Given the description of an element on the screen output the (x, y) to click on. 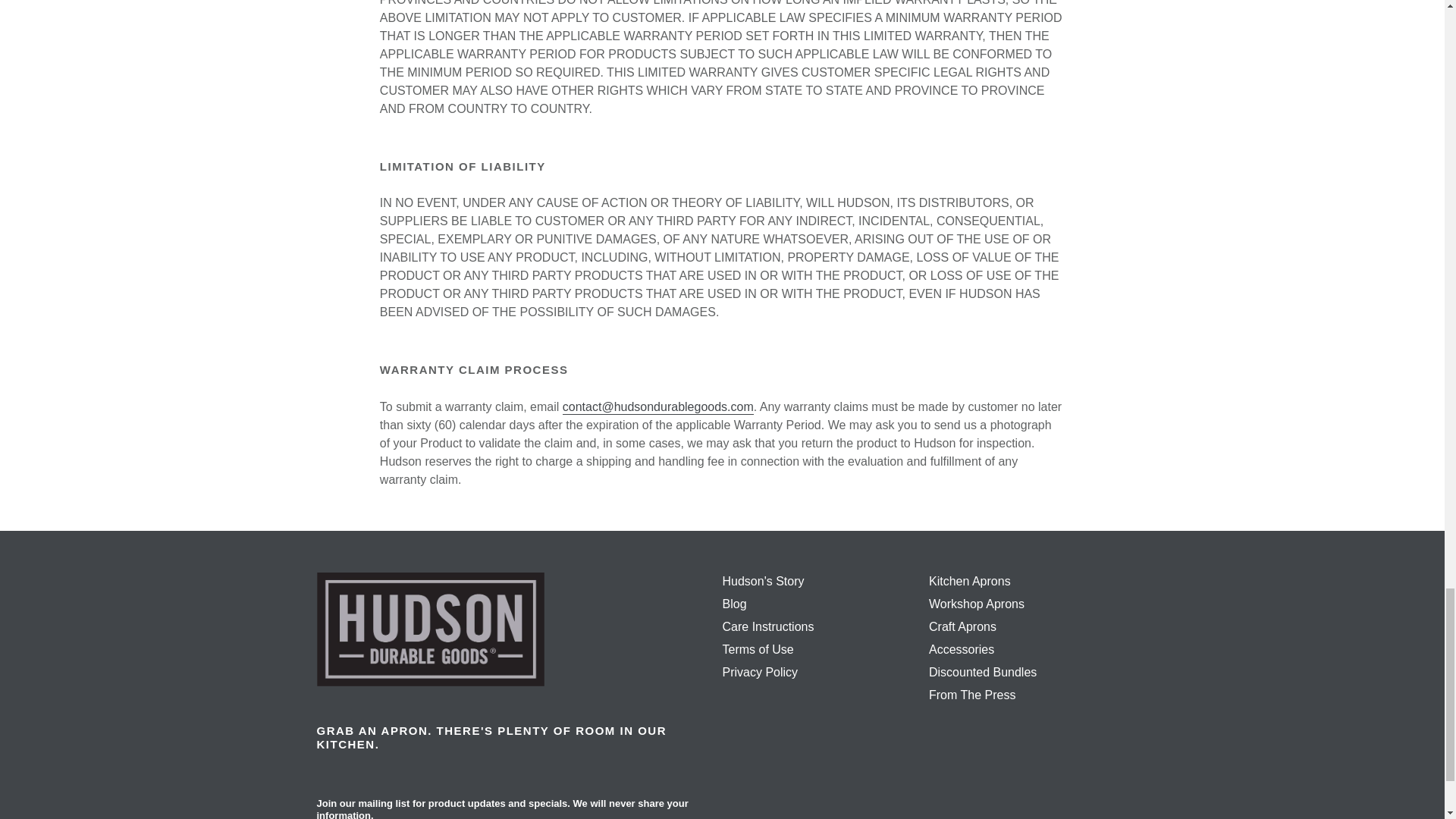
Workshop Aprons (976, 603)
Privacy Policy (759, 671)
Craft Aprons (961, 626)
Hudson's Story (762, 581)
Terms of Use (757, 649)
Blog (733, 603)
Discounted Bundles (982, 671)
Care Instructions (767, 626)
Kitchen Aprons (969, 581)
Accessories (961, 649)
